Given the description of an element on the screen output the (x, y) to click on. 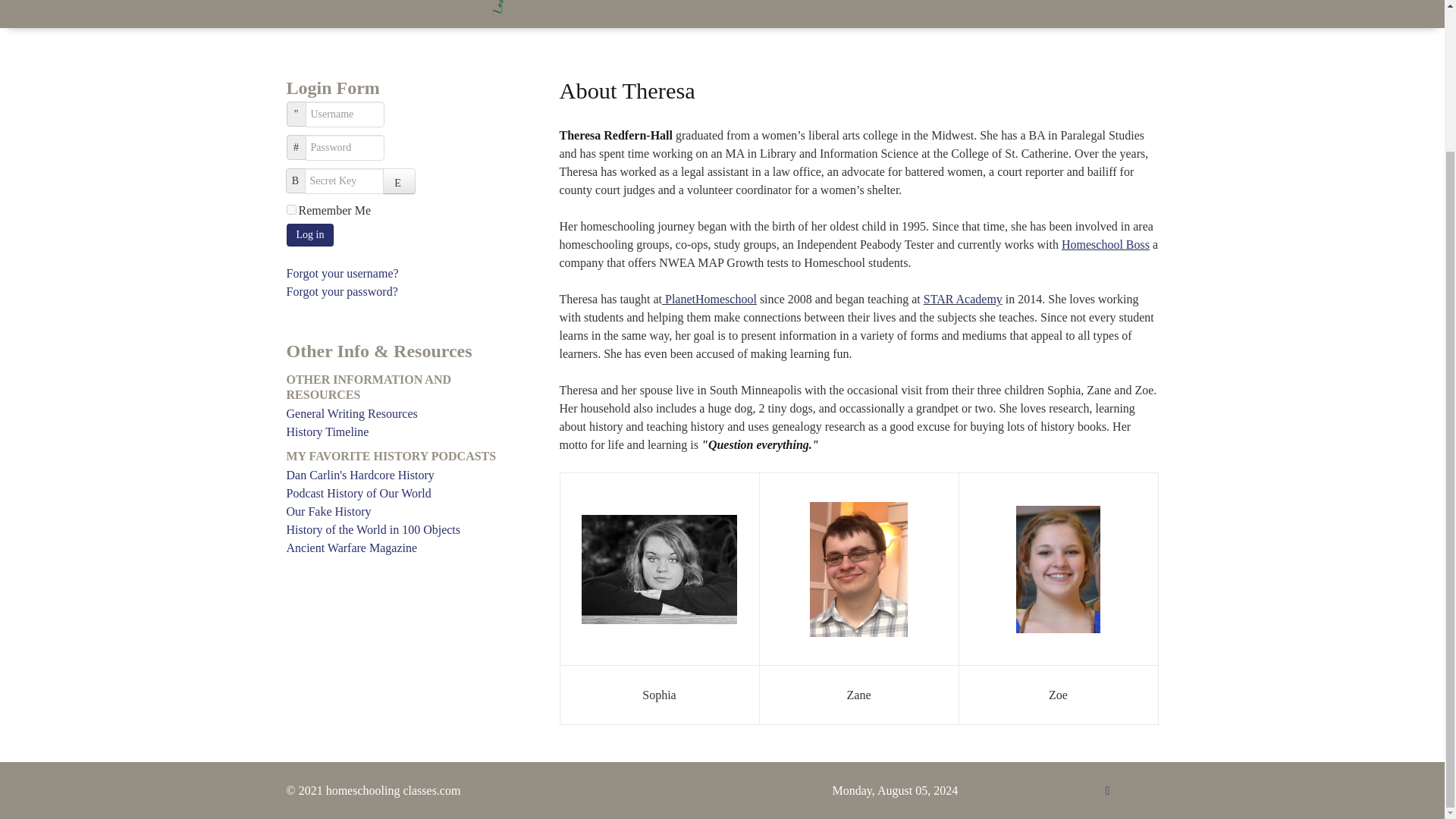
Podcast History of Our World (403, 493)
Gantry 5 (494, 10)
Forgot your password? (341, 291)
yes (291, 209)
General Writing Resources (403, 413)
Forgot your username? (342, 273)
History Timeline (403, 432)
STAR Academy (963, 298)
Log in (310, 234)
Homeschool Boss (1105, 244)
Ancient Warfare Magazine (403, 547)
History of the World in 100 Objects (403, 529)
PlanetHomeschool (711, 298)
Our Fake History (403, 511)
Dan Carlin's Hardcore History (403, 475)
